Given the description of an element on the screen output the (x, y) to click on. 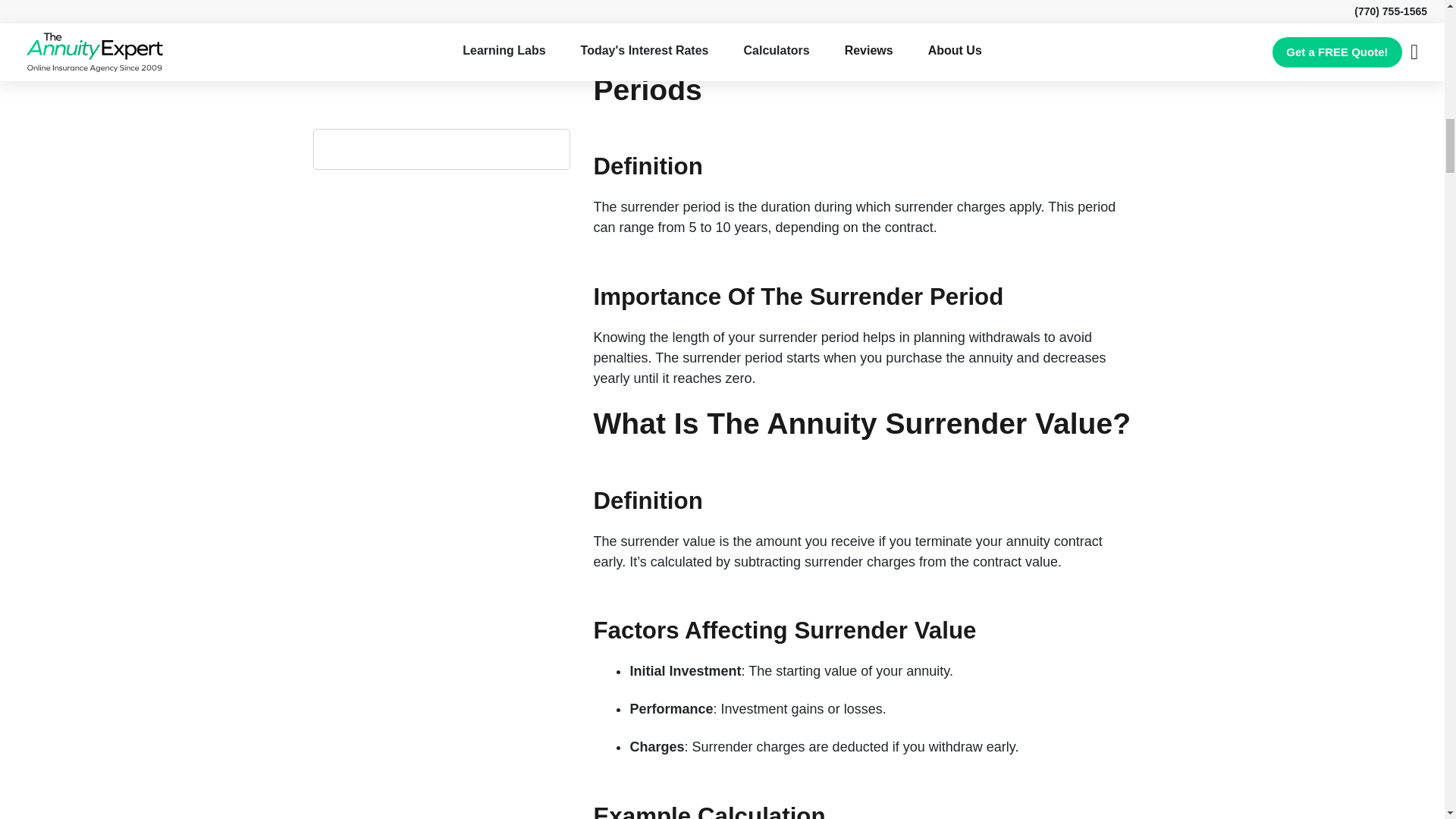
G- What Are Surrender Charges?-Accessing Money- FIA Overview (861, 4)
